Given the description of an element on the screen output the (x, y) to click on. 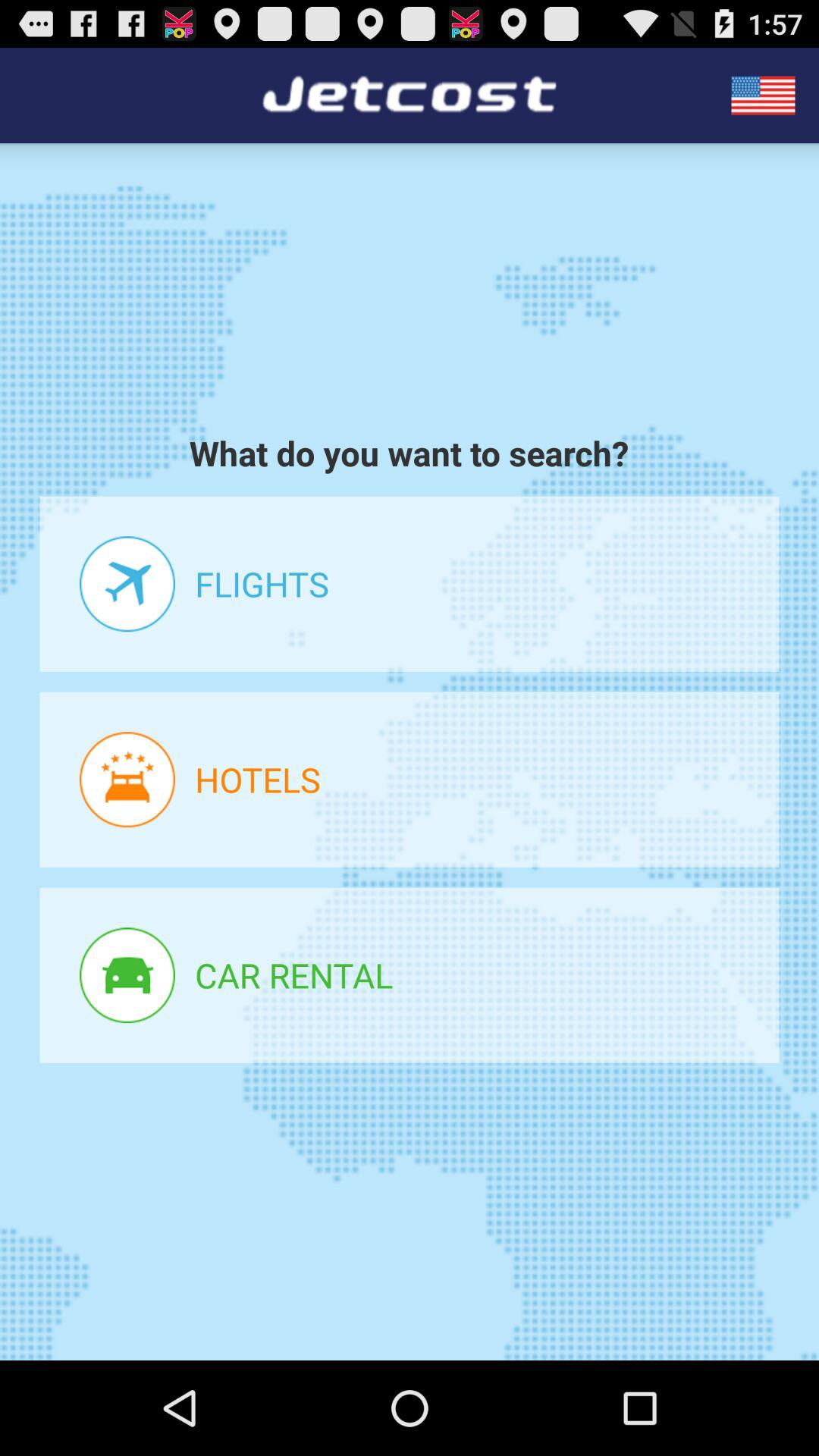
change country (763, 95)
